Given the description of an element on the screen output the (x, y) to click on. 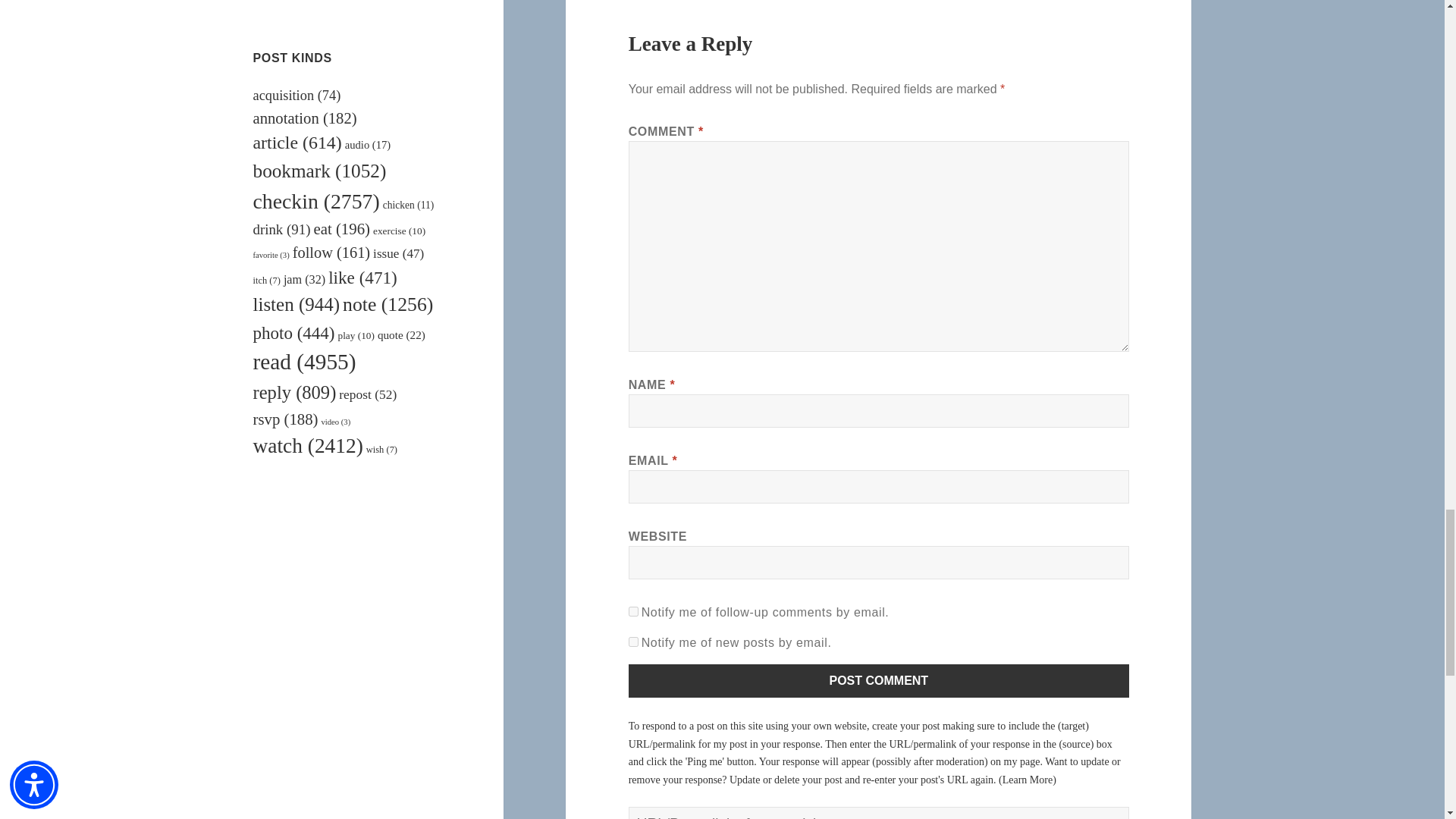
subscribe (633, 611)
subscribe (633, 642)
Post Comment (878, 680)
